Given the description of an element on the screen output the (x, y) to click on. 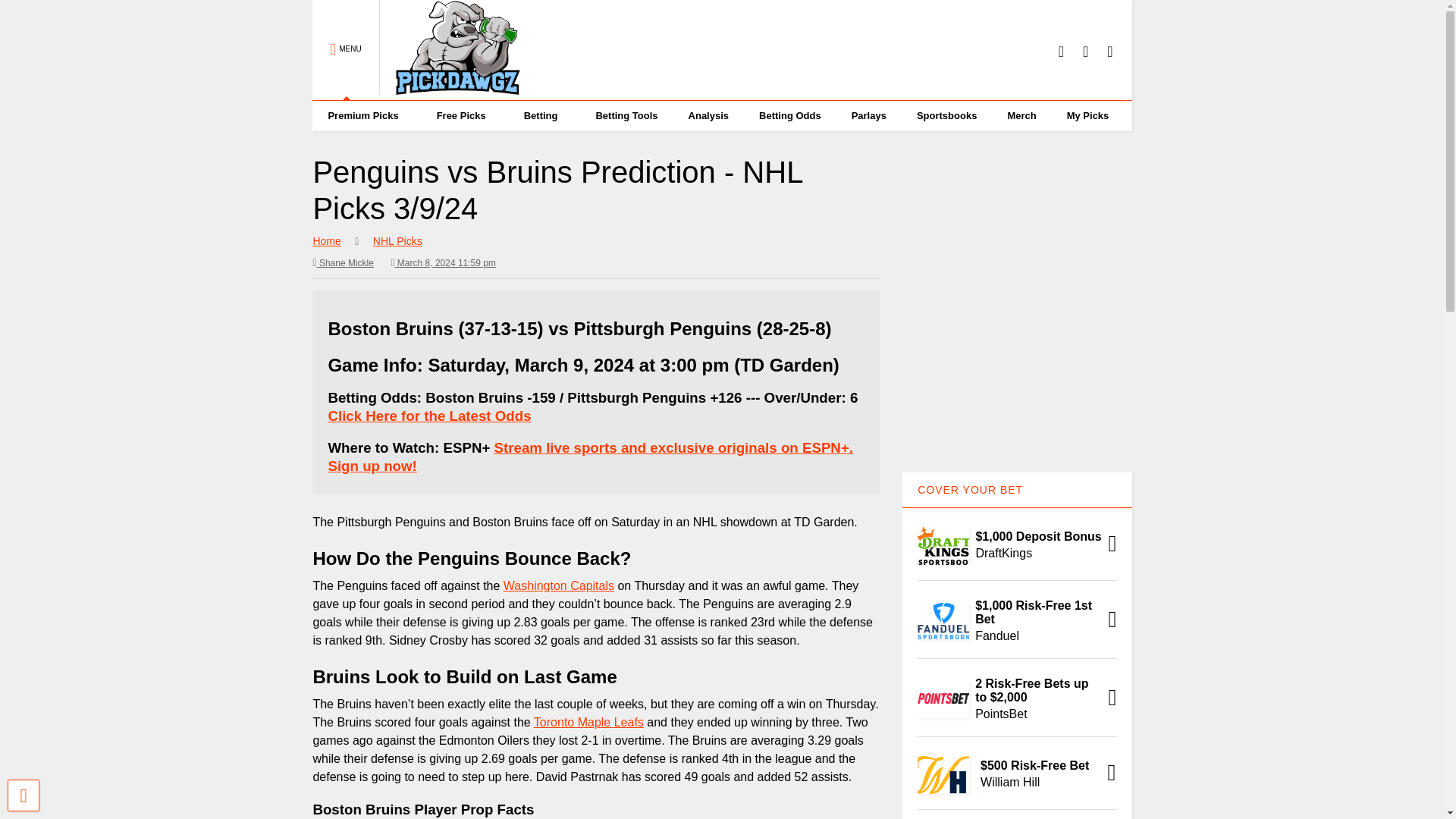
Premium Picks (366, 115)
2024-03-08T23:59:00-0500 (443, 263)
Betting (544, 115)
Betting Tools (625, 115)
Analysis (708, 115)
PickDawgz (449, 87)
Free Picks (465, 115)
Shane Mickle (343, 263)
MENU (345, 49)
